Given the description of an element on the screen output the (x, y) to click on. 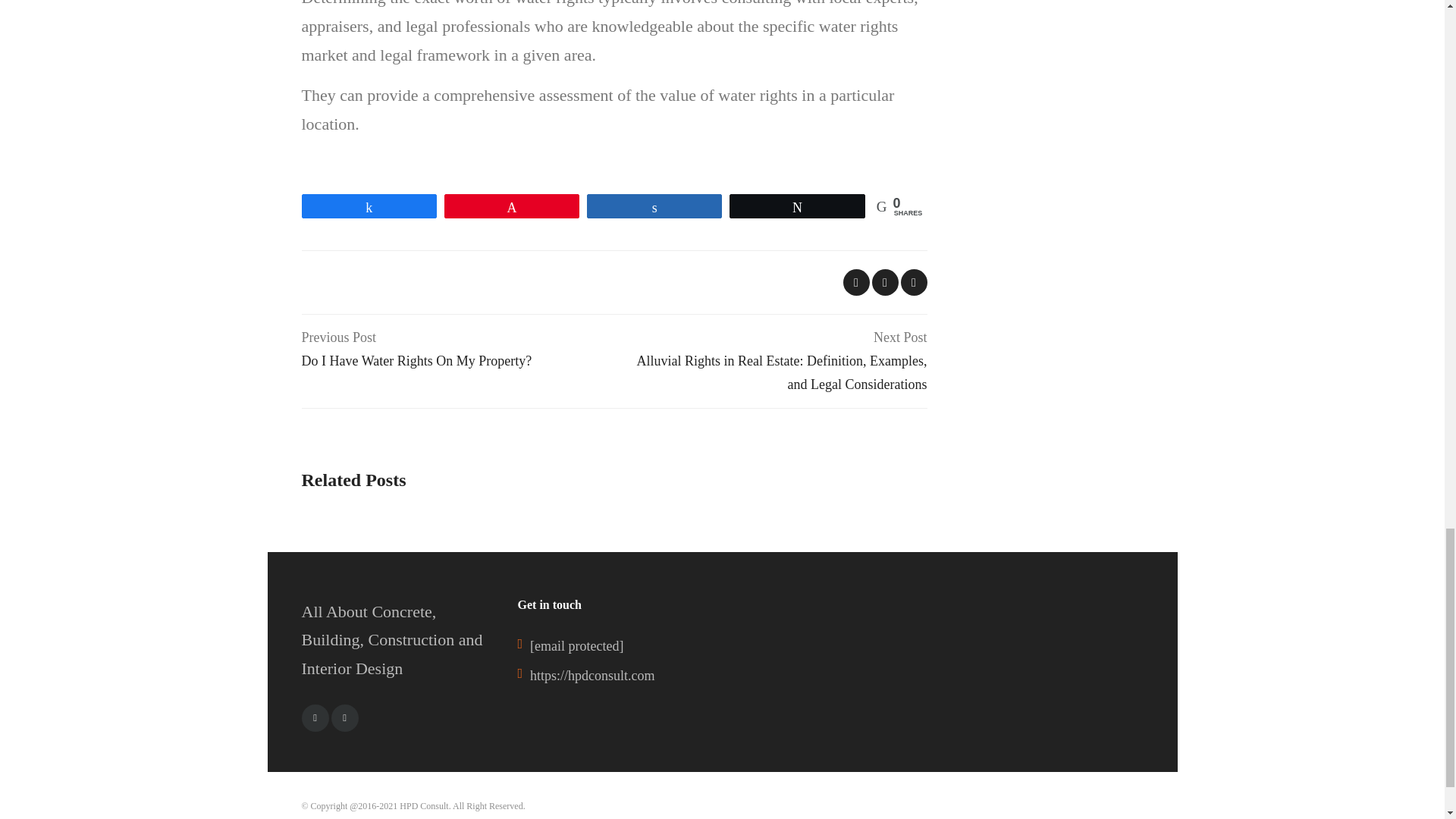
Facebook (457, 349)
Twitter (315, 718)
